Given the description of an element on the screen output the (x, y) to click on. 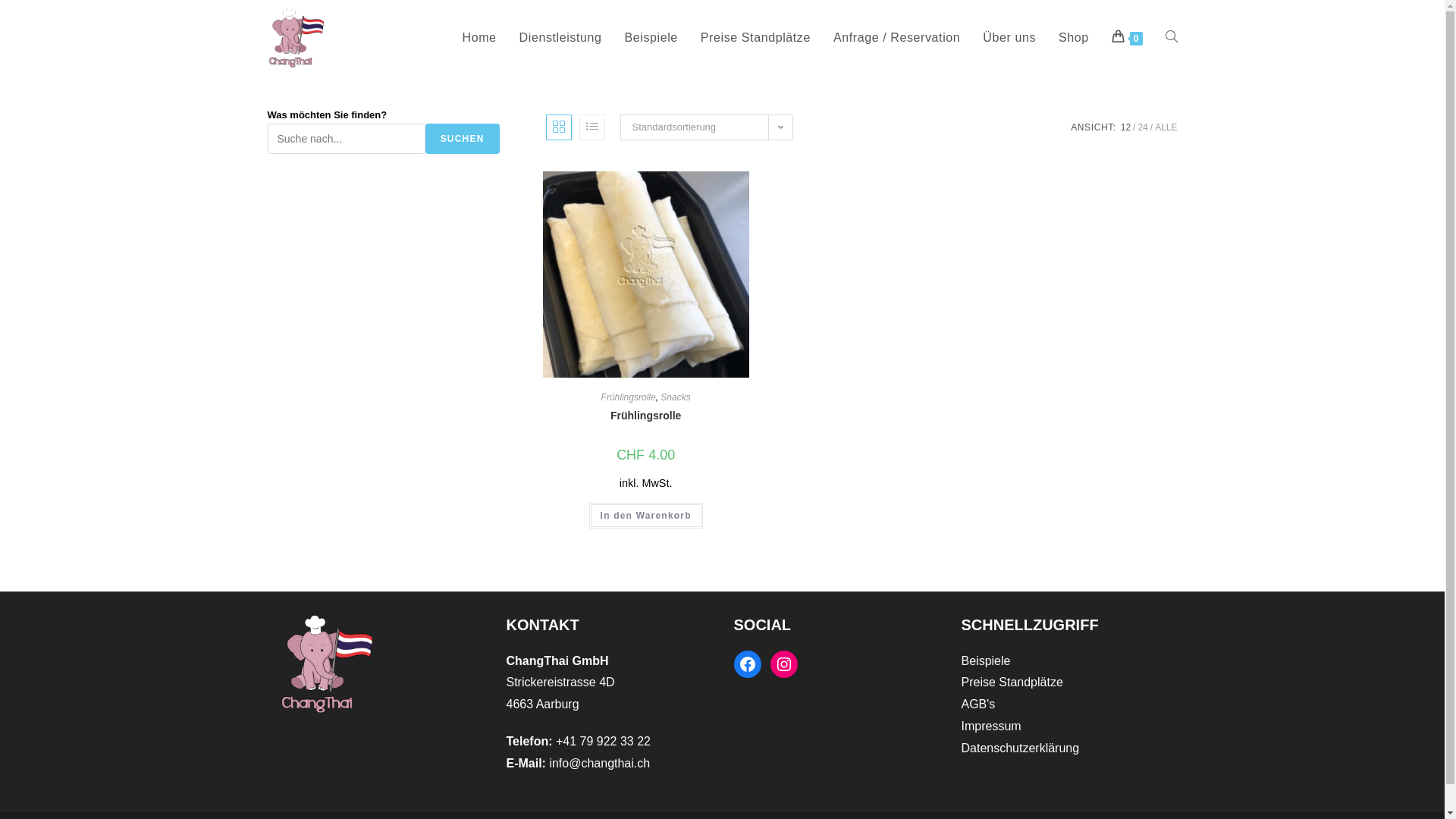
Dienstleistung Element type: text (560, 37)
Impressum Element type: text (991, 725)
24 Element type: text (1142, 127)
Rasteransicht Element type: hover (558, 127)
In den Warenkorb Element type: text (645, 515)
Listenansicht Element type: hover (592, 127)
SUCHEN Element type: text (462, 138)
Beispiele Element type: text (650, 37)
Beispiele Element type: text (985, 659)
Instagram Element type: text (783, 663)
AGB's Element type: text (978, 703)
Shop Element type: text (1073, 37)
ALLE Element type: text (1165, 127)
Home Element type: text (478, 37)
12 Element type: text (1125, 127)
Toggle website search Element type: text (1171, 37)
Anfrage / Reservation Element type: text (896, 37)
0 Element type: text (1127, 37)
Snacks Element type: text (675, 397)
Facebook Element type: text (747, 663)
